Given the description of an element on the screen output the (x, y) to click on. 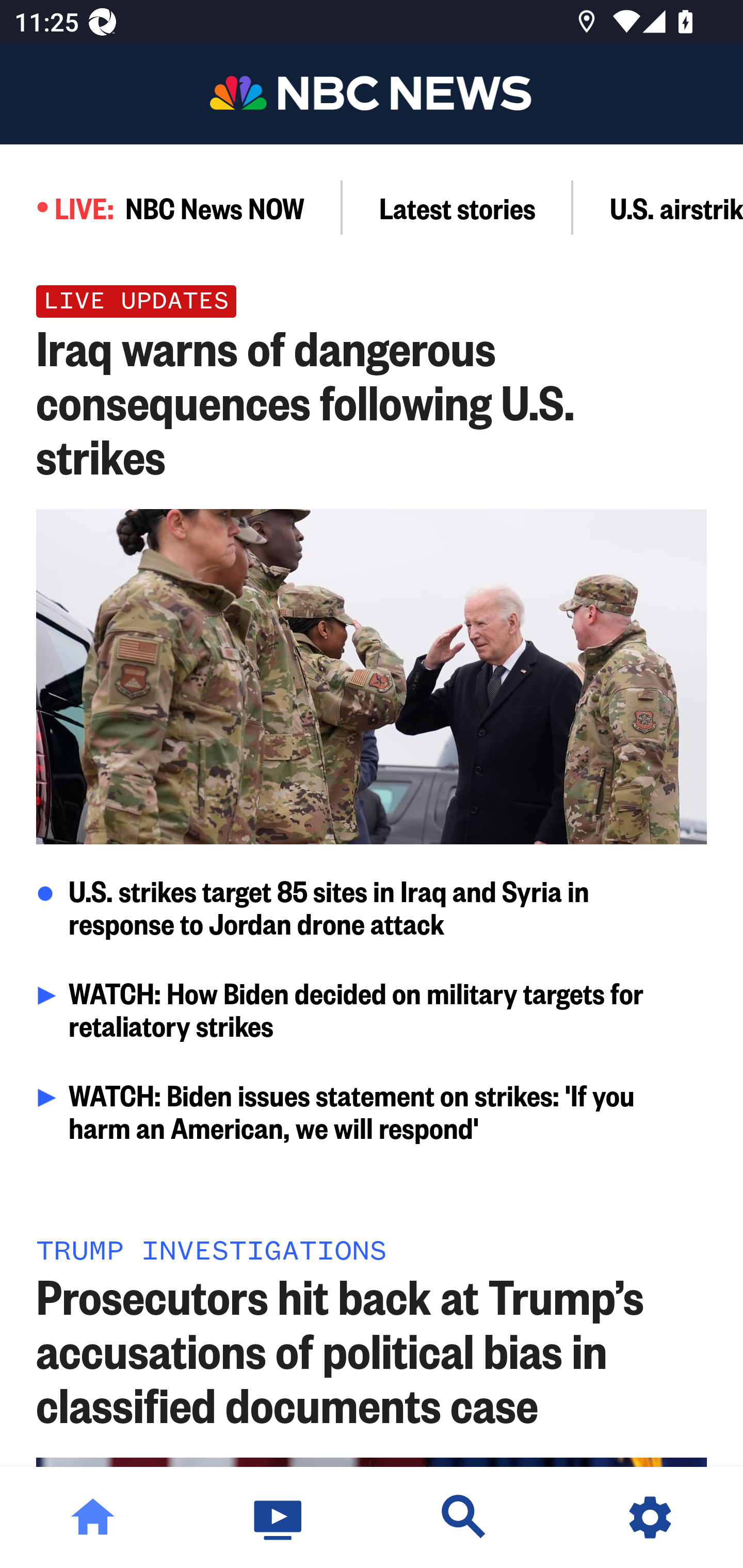
LIVE:  NBC News NOW (171, 207)
Latest stories Section,Latest stories (457, 207)
U.S. airstrikes (658, 207)
Watch (278, 1517)
Discover (464, 1517)
Settings (650, 1517)
